Given the description of an element on the screen output the (x, y) to click on. 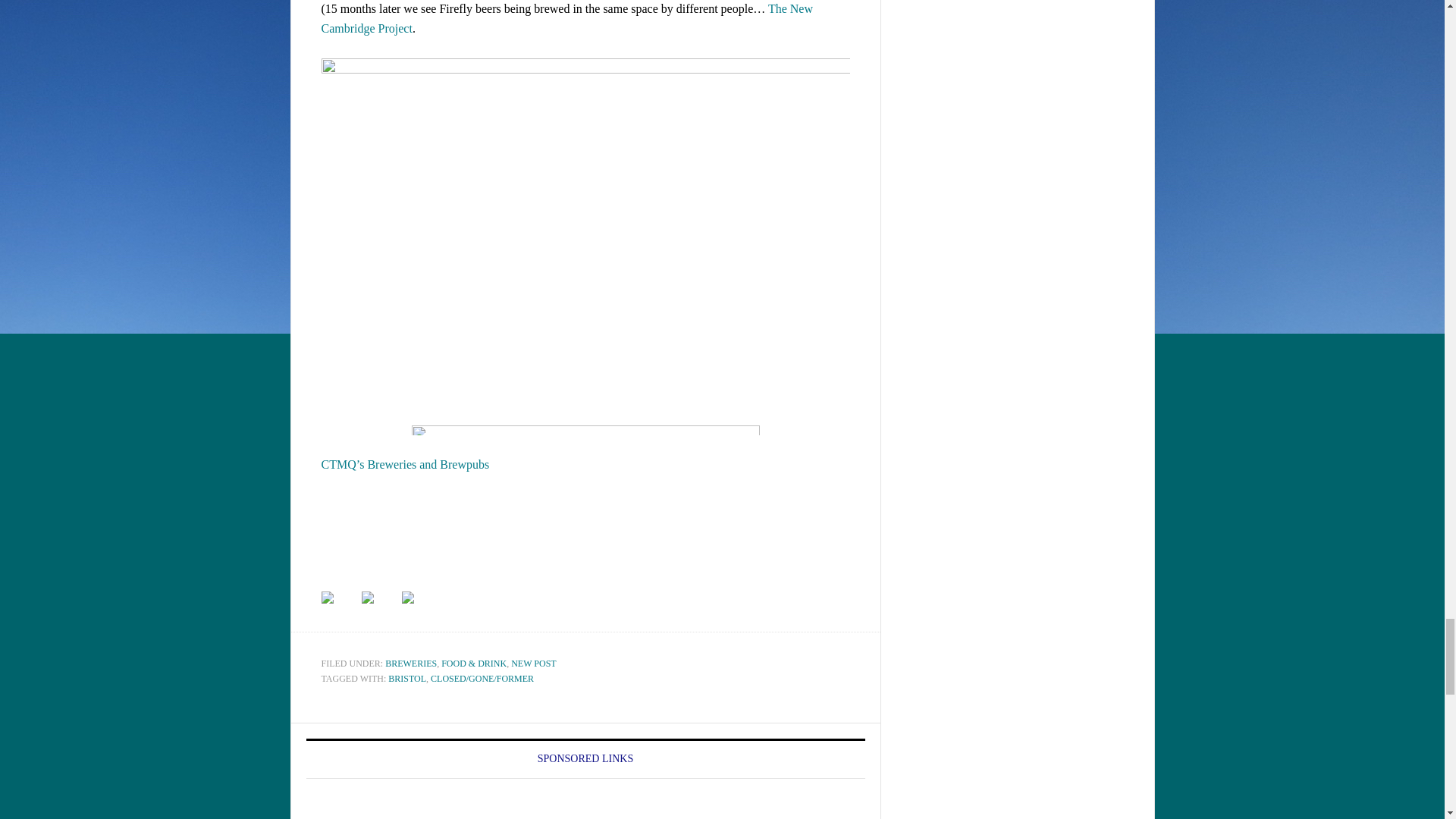
Share on Twitter (366, 597)
Share on Facebook (339, 609)
Share on Twitter (379, 609)
Share on Reddit (407, 597)
Share on Reddit (419, 609)
Share on Facebook (327, 597)
